Given the description of an element on the screen output the (x, y) to click on. 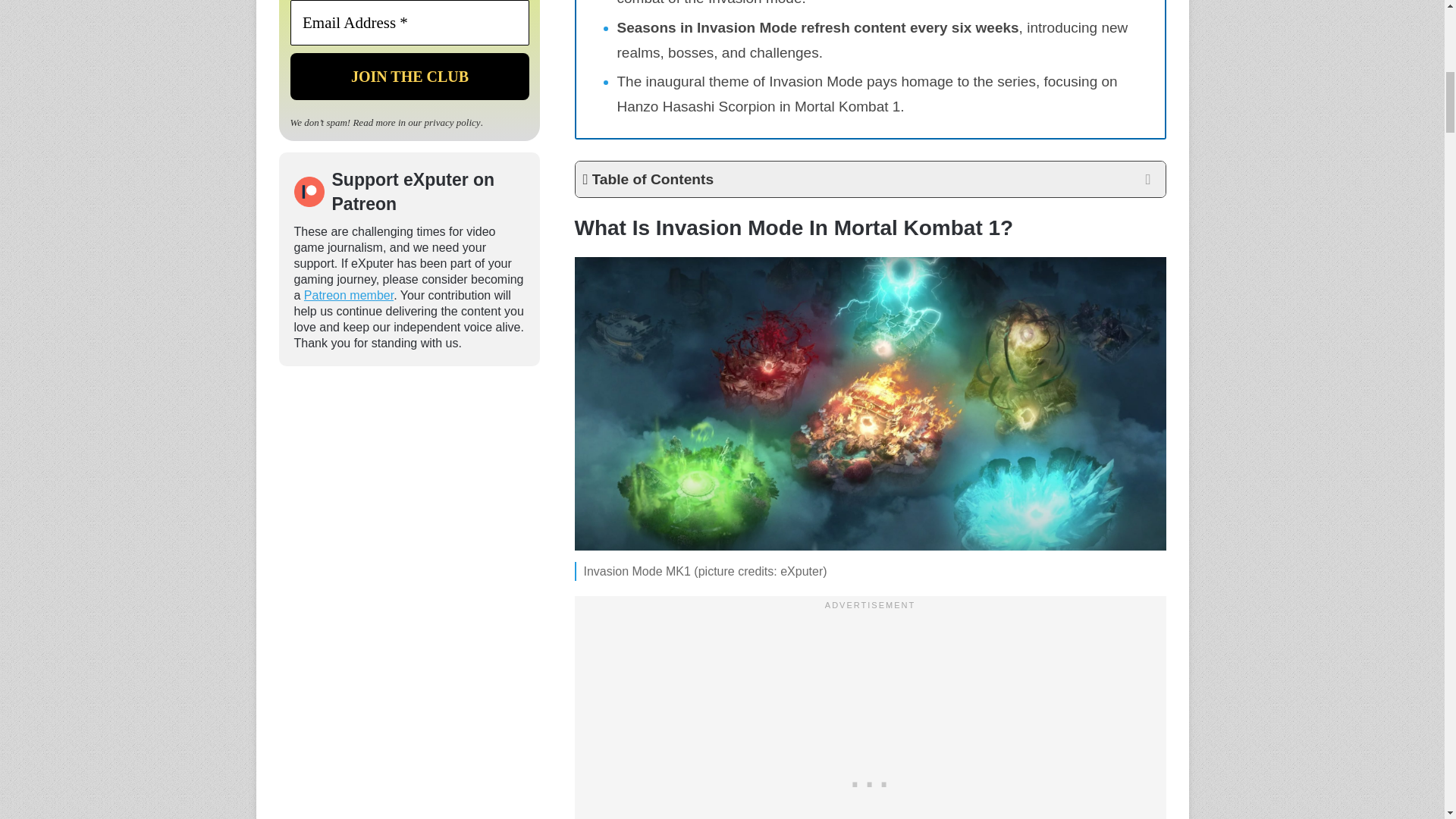
Email Address (408, 22)
JOIN THE  CLUB (408, 76)
